Given the description of an element on the screen output the (x, y) to click on. 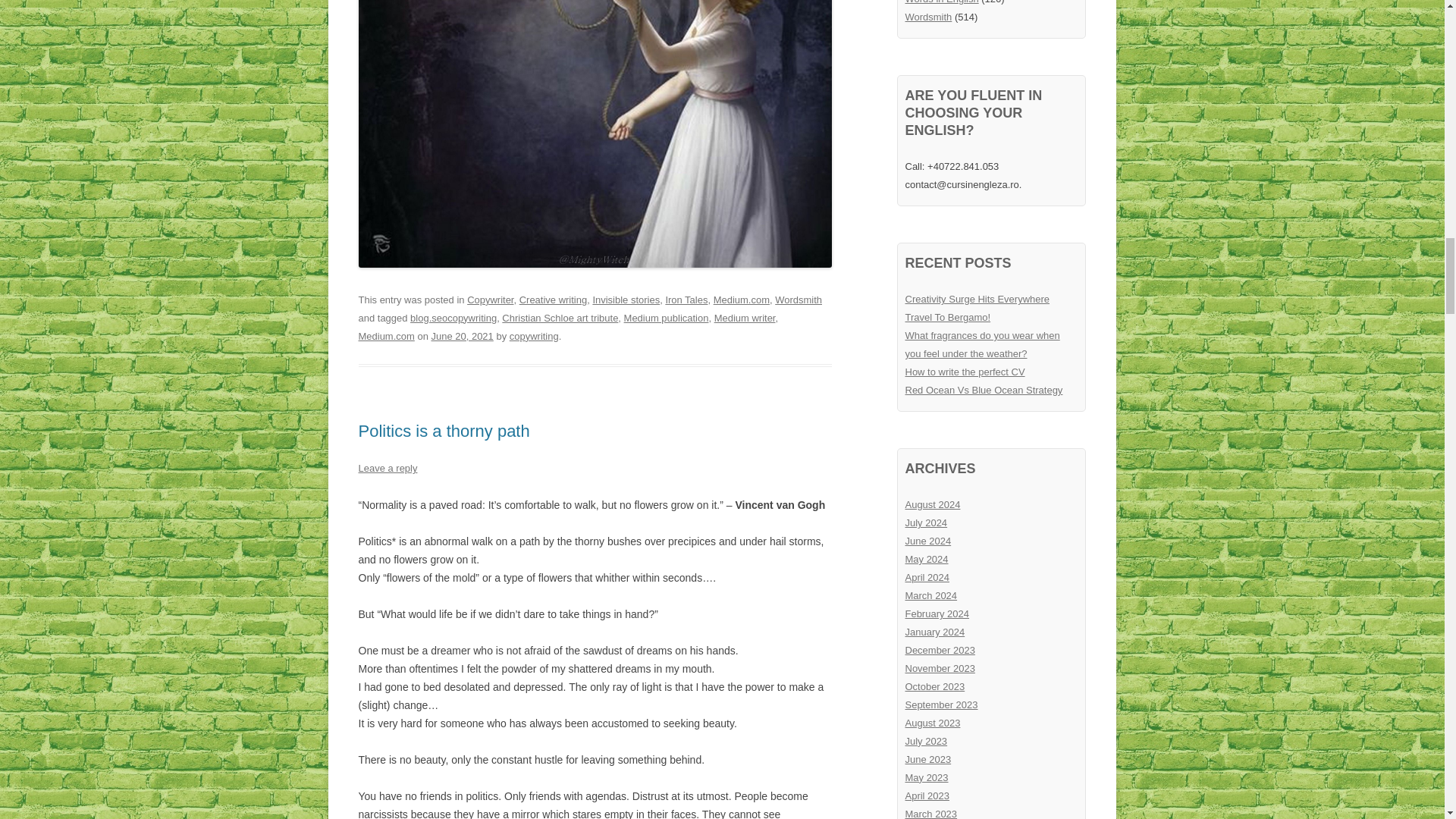
Creative writing (552, 299)
Invisible stories (625, 299)
9:18 am (461, 336)
Copywriter (490, 299)
Wordsmith (798, 299)
Medium writer (745, 317)
View all posts by copywriting (534, 336)
Iron Tales (686, 299)
Medium.com (741, 299)
June 20, 2021 (461, 336)
